Given the description of an element on the screen output the (x, y) to click on. 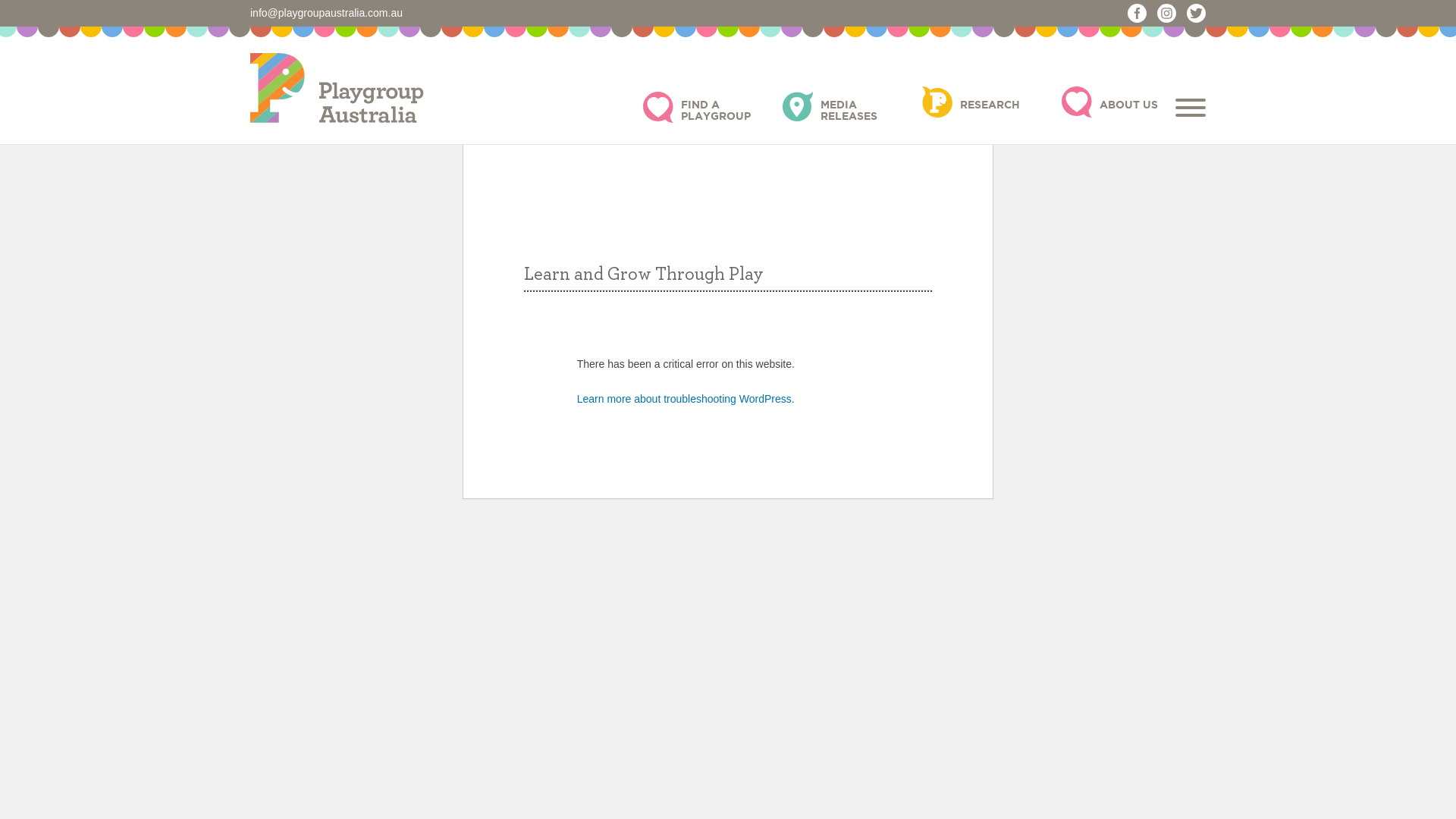
RESEARCH Element type: text (982, 104)
info@playgroupaustralia.com.au Element type: text (326, 12)
MEDIA RELEASES Element type: text (842, 110)
ABOUT US Element type: text (1122, 104)
Learn more about troubleshooting WordPress. Element type: text (685, 398)
FIND A PLAYGROUP Element type: text (703, 110)
Playgroup Australia Element type: text (336, 86)
